Given the description of an element on the screen output the (x, y) to click on. 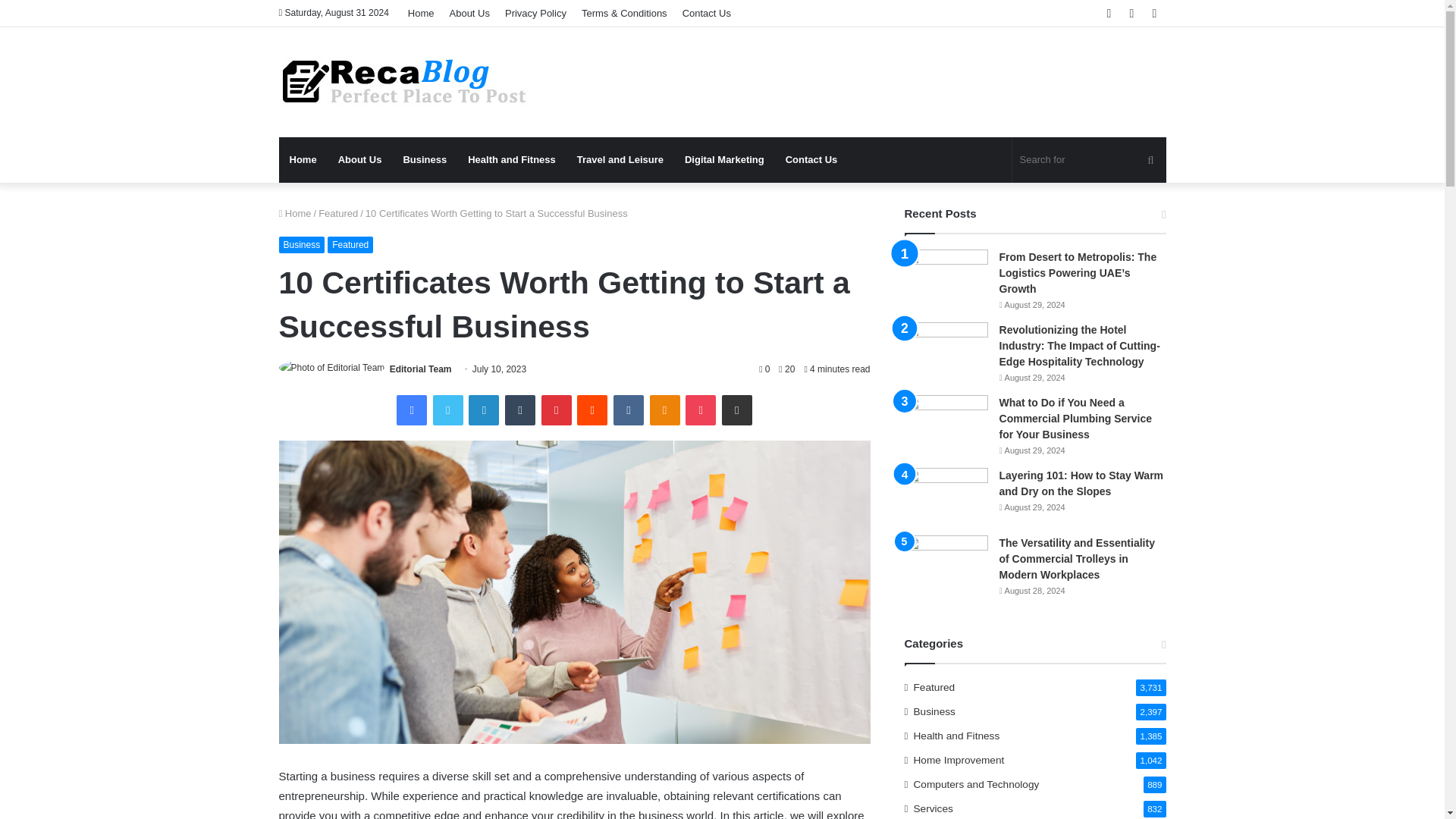
Reddit (591, 409)
Digital Marketing (724, 159)
Reddit (591, 409)
Odnoklassniki (664, 409)
Business (301, 244)
Share via Email (737, 409)
About Us (360, 159)
Health and Fitness (511, 159)
Contact Us (706, 13)
Facebook (411, 409)
